Given the description of an element on the screen output the (x, y) to click on. 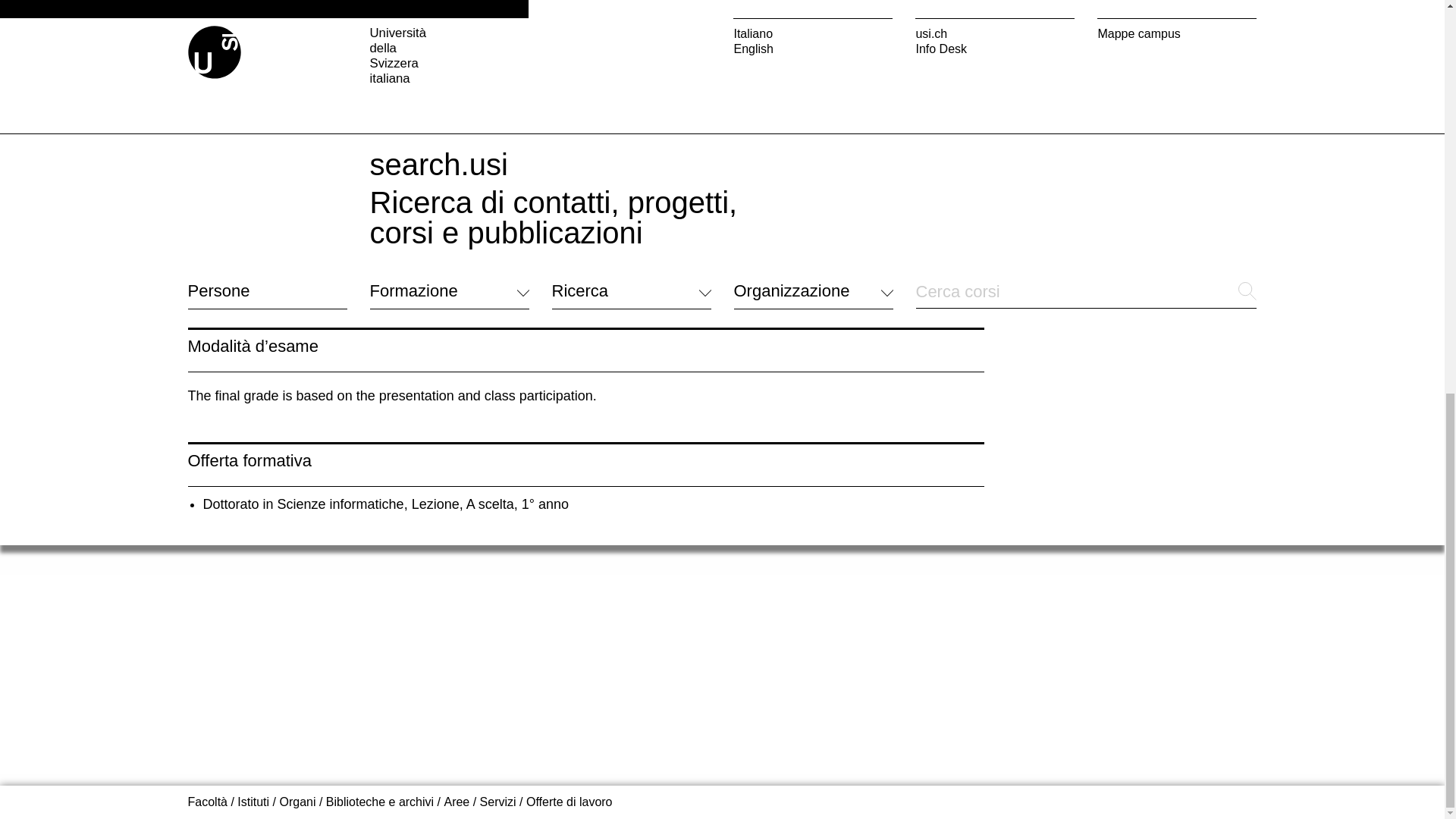
Informazioni legali (600, 6)
Dottorato in Scienze informatiche (303, 503)
Credits (678, 6)
